Given the description of an element on the screen output the (x, y) to click on. 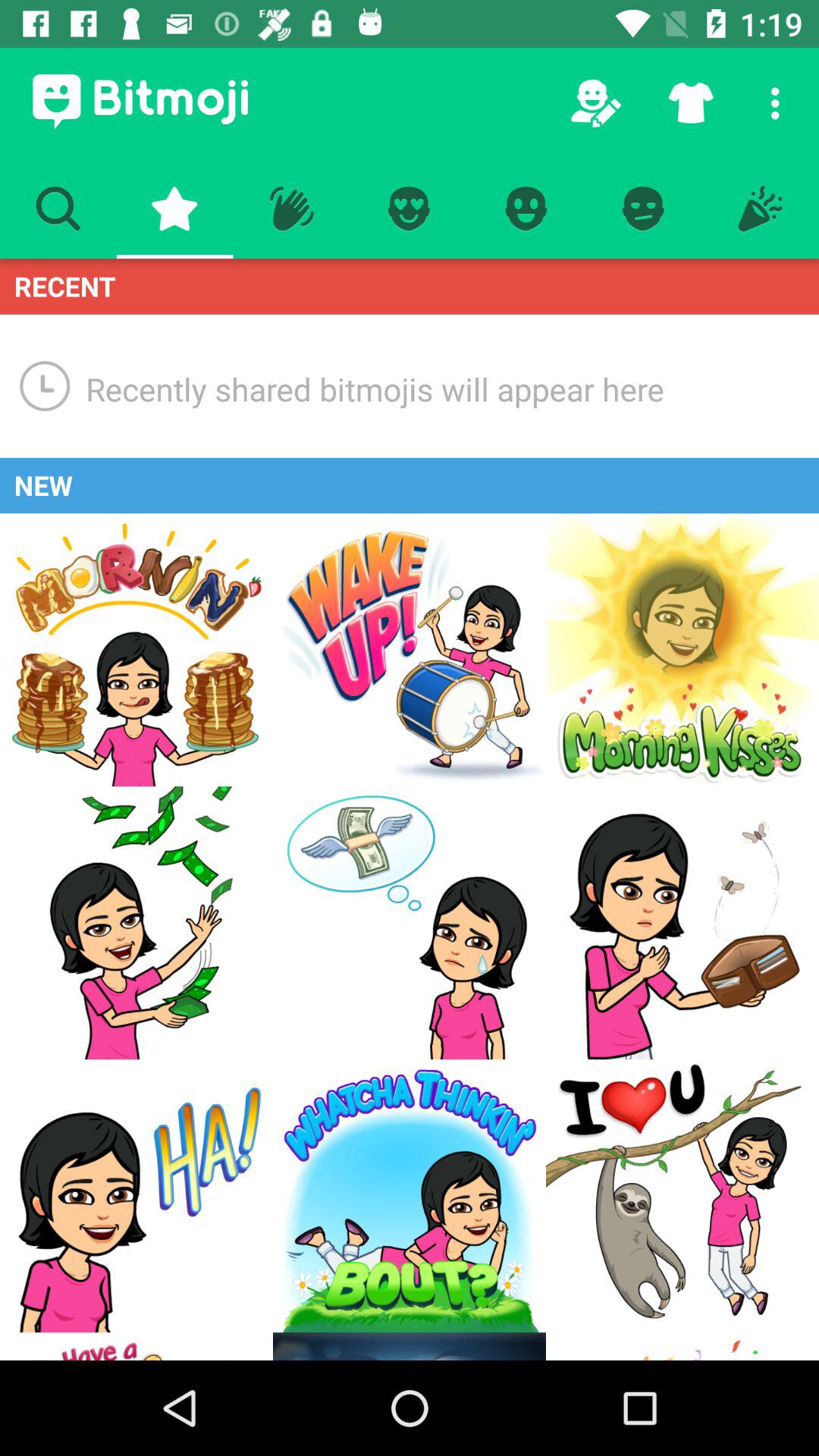
bitmoji ha (136, 1195)
